Given the description of an element on the screen output the (x, y) to click on. 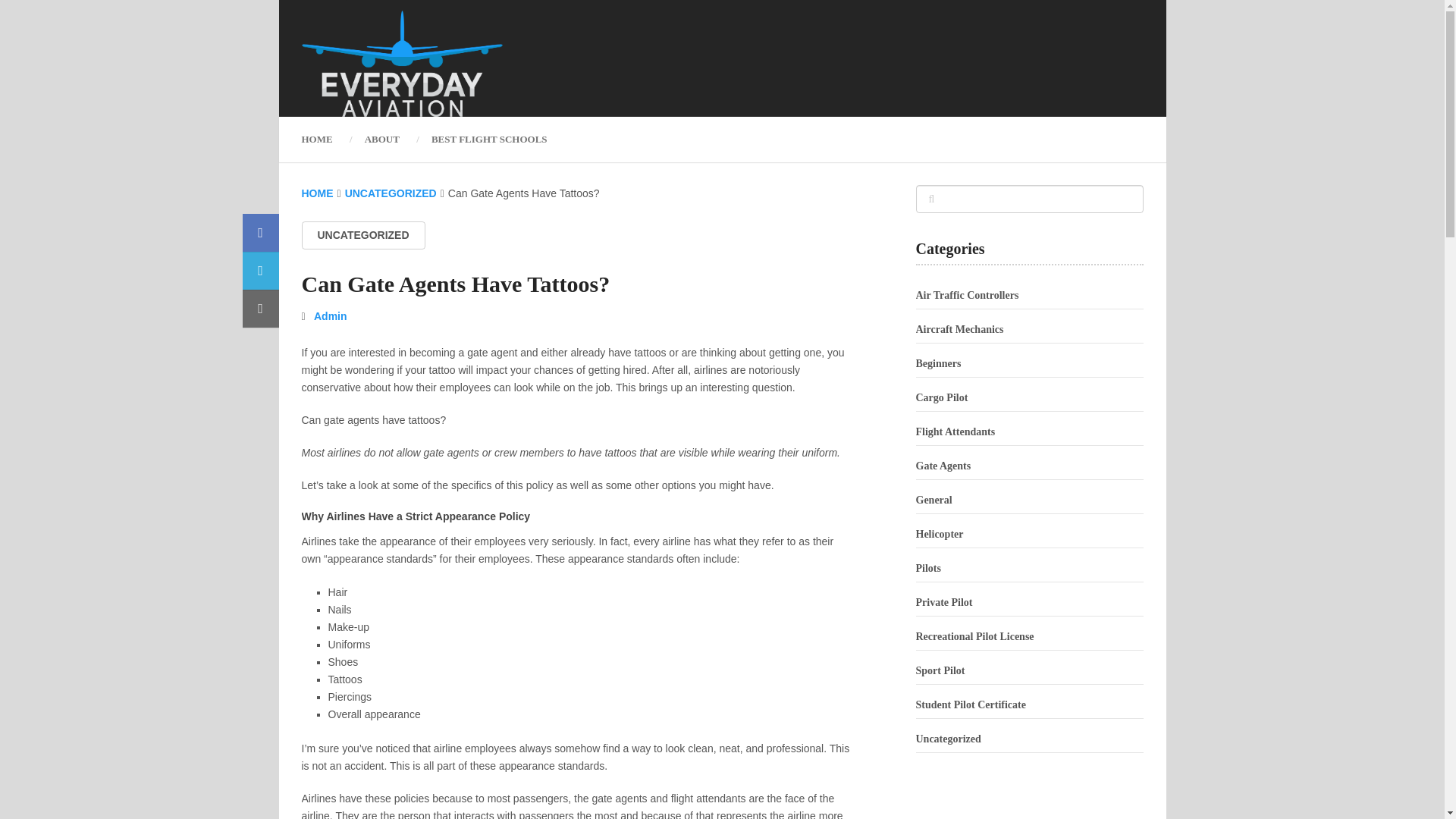
Gate Agents (943, 465)
Pilots (927, 568)
HOME (325, 139)
Posts by Admin (330, 316)
Uncategorized (948, 738)
Air Traffic Controllers (967, 295)
Student Pilot Certificate (970, 704)
UNCATEGORIZED (363, 235)
Beginners (937, 363)
Aircraft Mechanics (959, 328)
General (933, 500)
Recreational Pilot License (974, 636)
ABOUT (381, 139)
Helicopter (939, 533)
Cargo Pilot (941, 397)
